Given the description of an element on the screen output the (x, y) to click on. 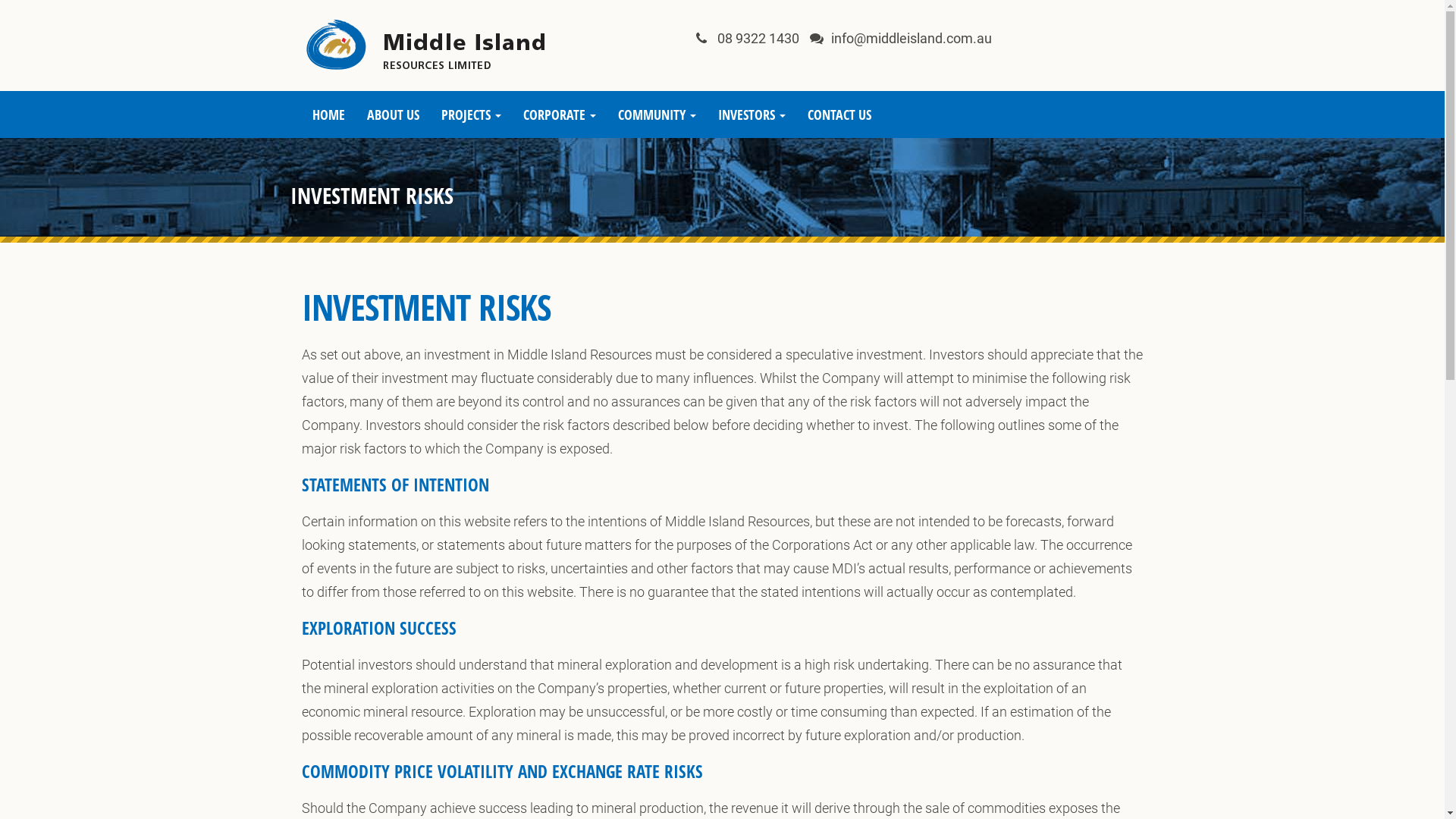
CORPORATE Element type: text (559, 114)
INVESTORS Element type: text (751, 114)
HOME Element type: text (328, 114)
ABOUT US Element type: text (393, 114)
COMMUNITY Element type: text (656, 114)
PROJECTS Element type: text (471, 114)
CONTACT US Element type: text (838, 114)
